Given the description of an element on the screen output the (x, y) to click on. 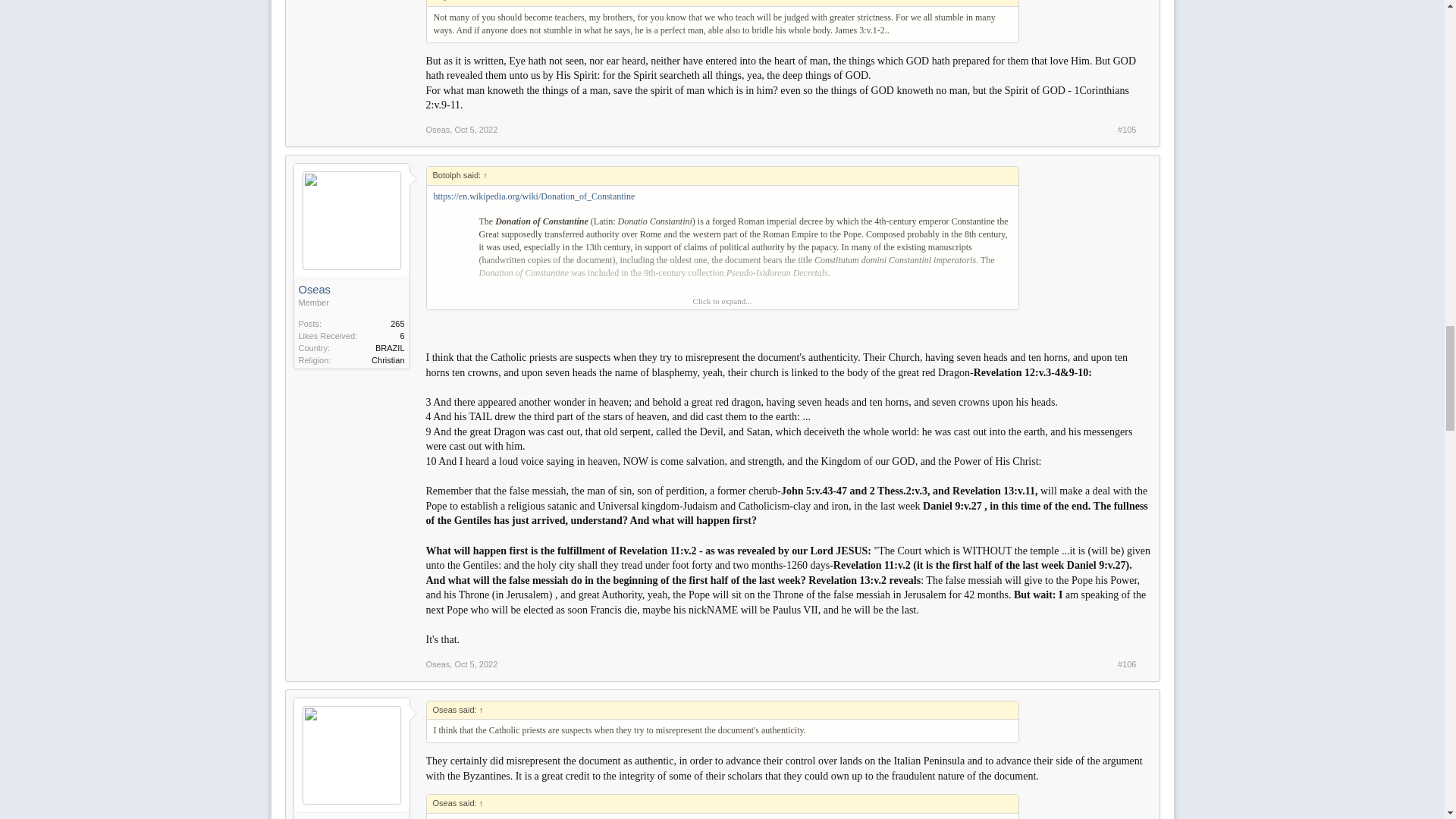
Permalink (1126, 129)
Permalink (475, 664)
Permalink (475, 129)
